Given the description of an element on the screen output the (x, y) to click on. 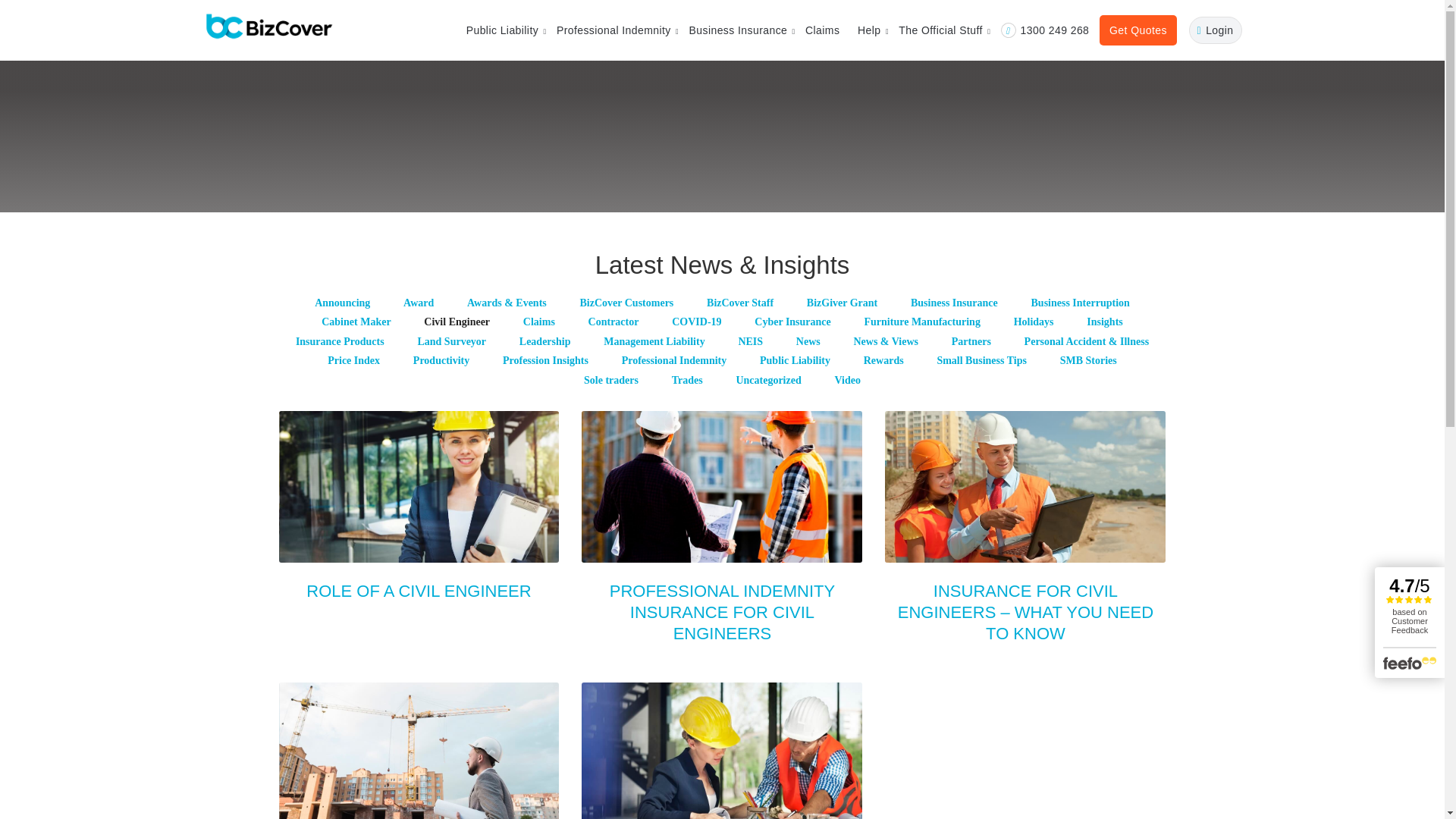
Claims (822, 29)
Help (868, 29)
Business Insurance (737, 29)
Professional Indemnity (613, 29)
BizCover (268, 26)
Public Liability (502, 29)
